Given the description of an element on the screen output the (x, y) to click on. 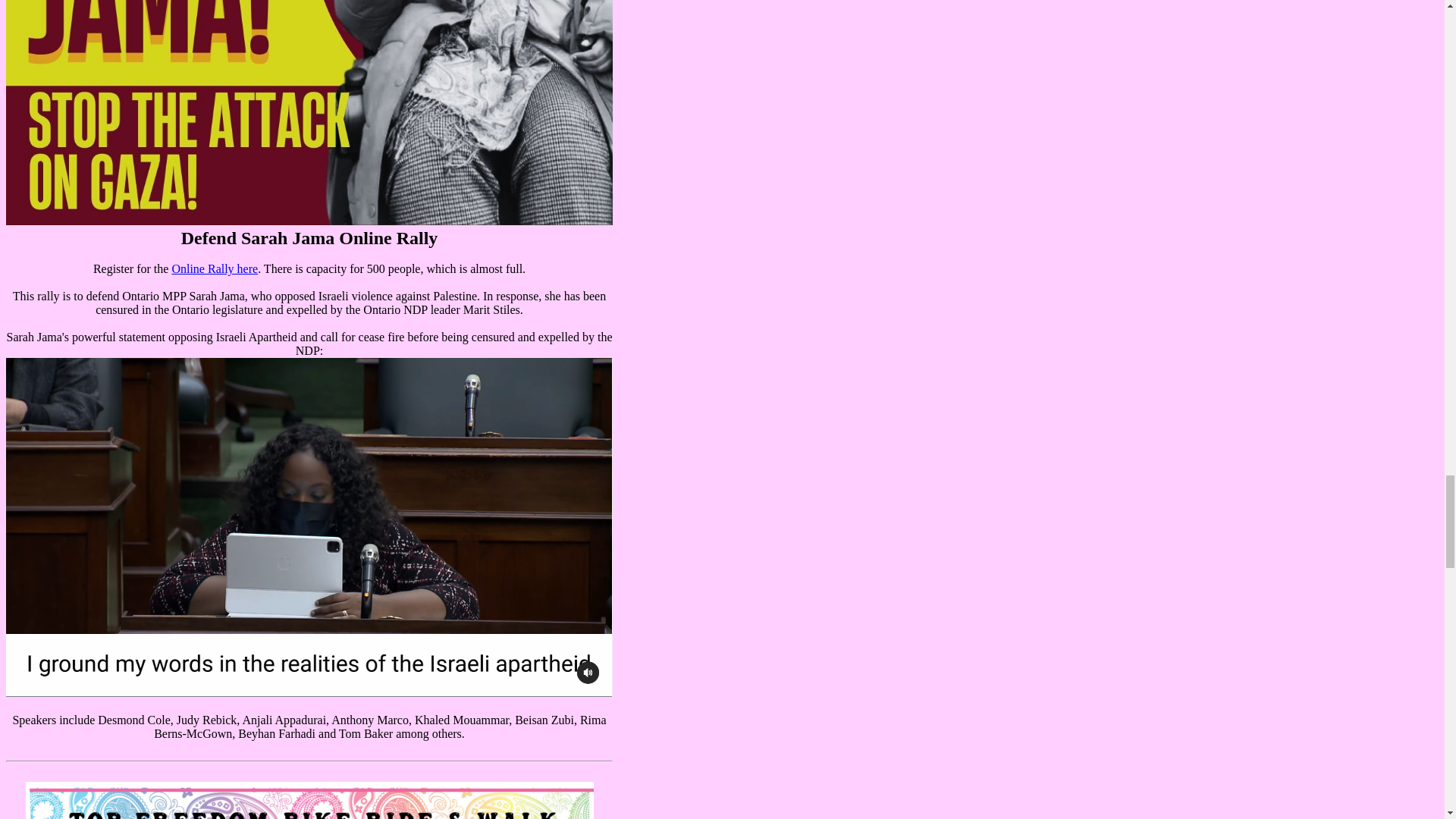
Online Rally here (214, 268)
